Given the description of an element on the screen output the (x, y) to click on. 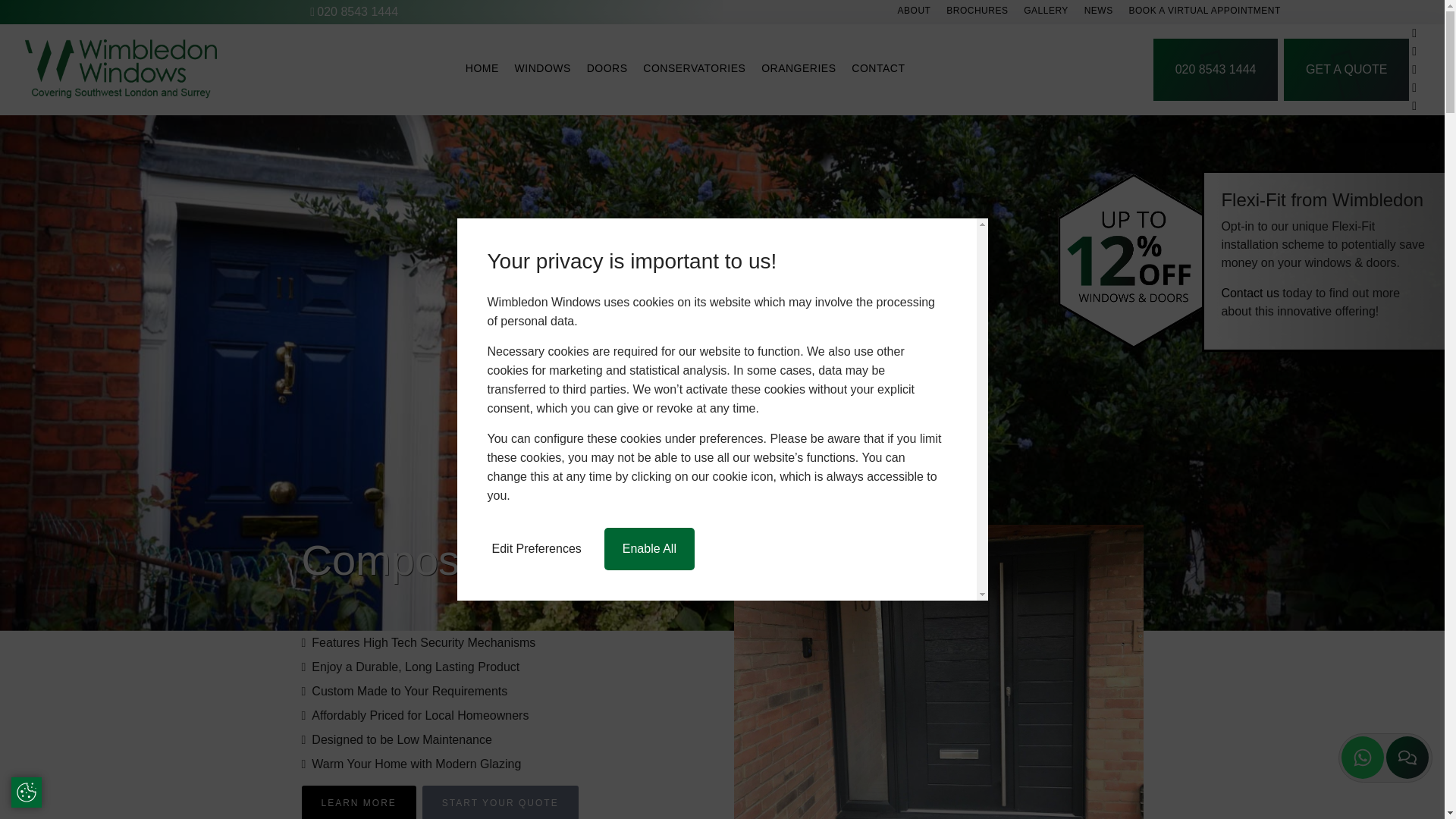
ABOUT (914, 11)
DOORS (606, 69)
020 8543 1444 (355, 12)
NEWS (1098, 11)
Edit Preferences (535, 548)
WINDOWS (542, 69)
START YOUR QUOTE (500, 802)
HOME (482, 69)
CONSERVATORIES (694, 69)
BROCHURES (976, 11)
BOOK A VIRTUAL APPOINTMENT (1203, 11)
Enable All (649, 548)
GALLERY (1045, 11)
LEARN MORE (358, 802)
